Given the description of an element on the screen output the (x, y) to click on. 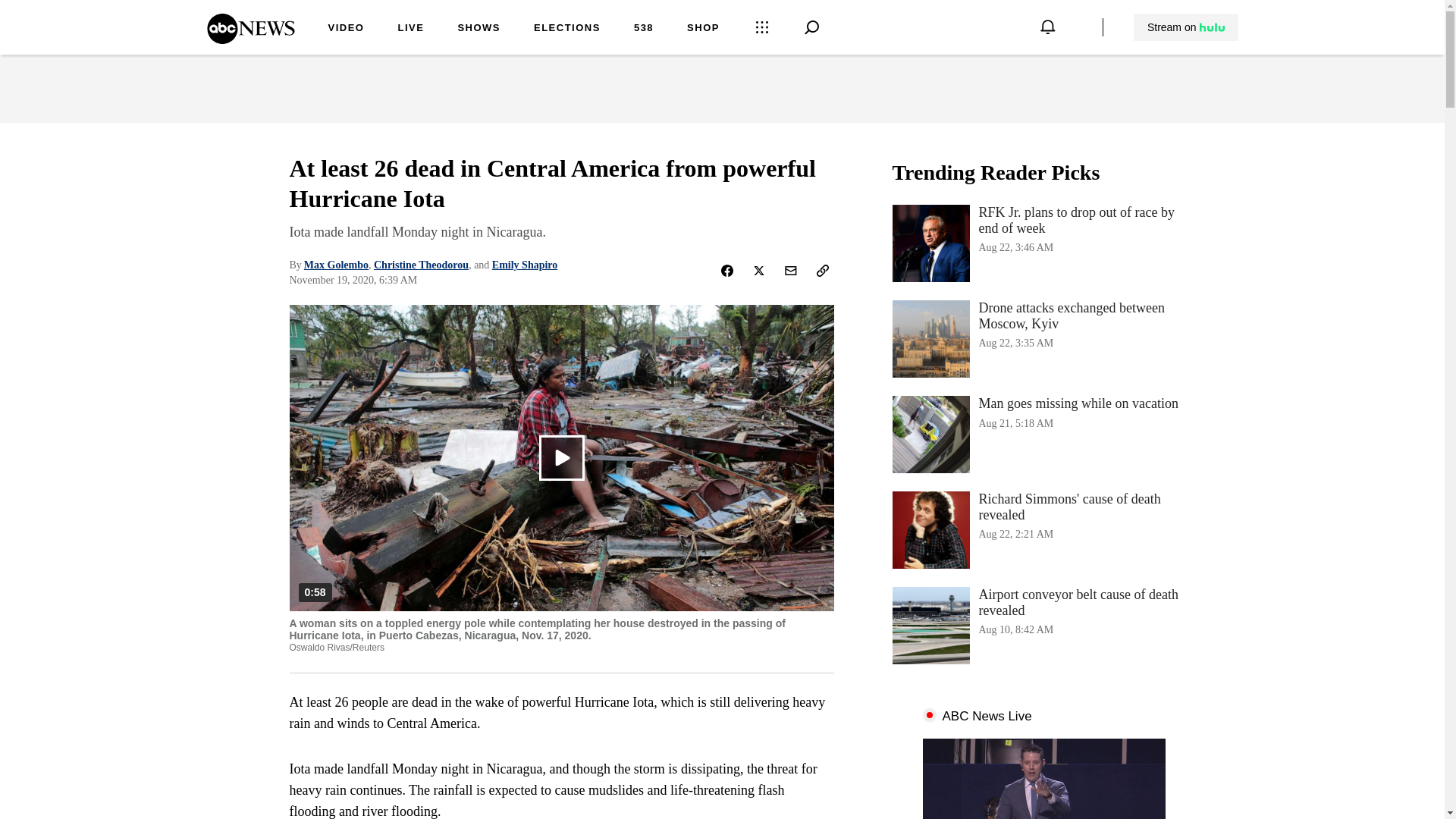
SHOP (703, 28)
ELECTIONS (566, 28)
LIVE (1043, 434)
Max Golembo (410, 28)
SHOWS (336, 265)
VIDEO (478, 28)
Stream on (345, 28)
